Given the description of an element on the screen output the (x, y) to click on. 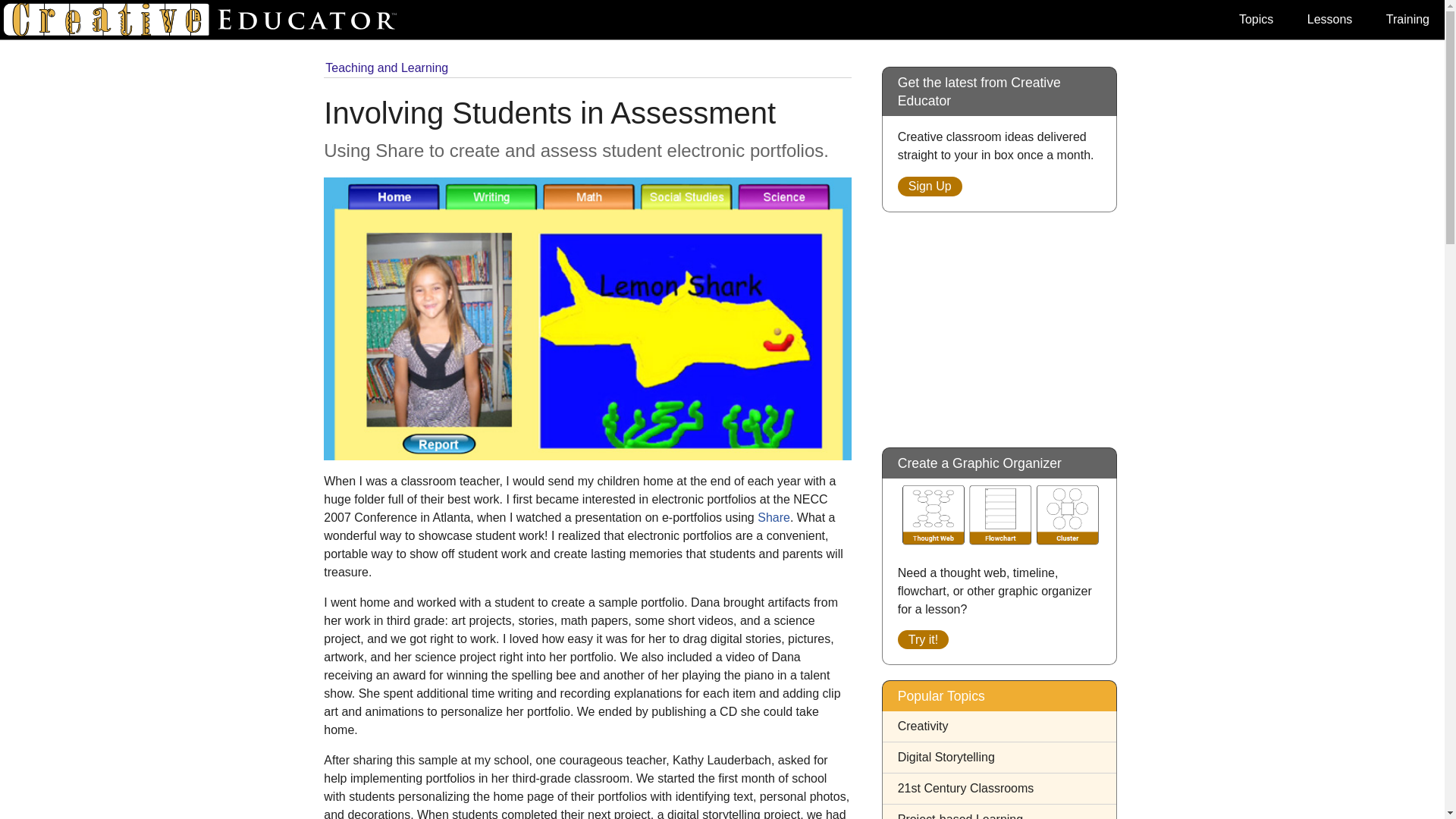
21st Century Classrooms (965, 788)
Project-based Learning (960, 816)
Creative Educator (206, 20)
Go to Home Page (206, 19)
Share (773, 517)
Try it! (923, 639)
Digital Storytelling (946, 757)
Advertisement (999, 321)
Creativity (923, 725)
Sign Up (930, 186)
